Given the description of an element on the screen output the (x, y) to click on. 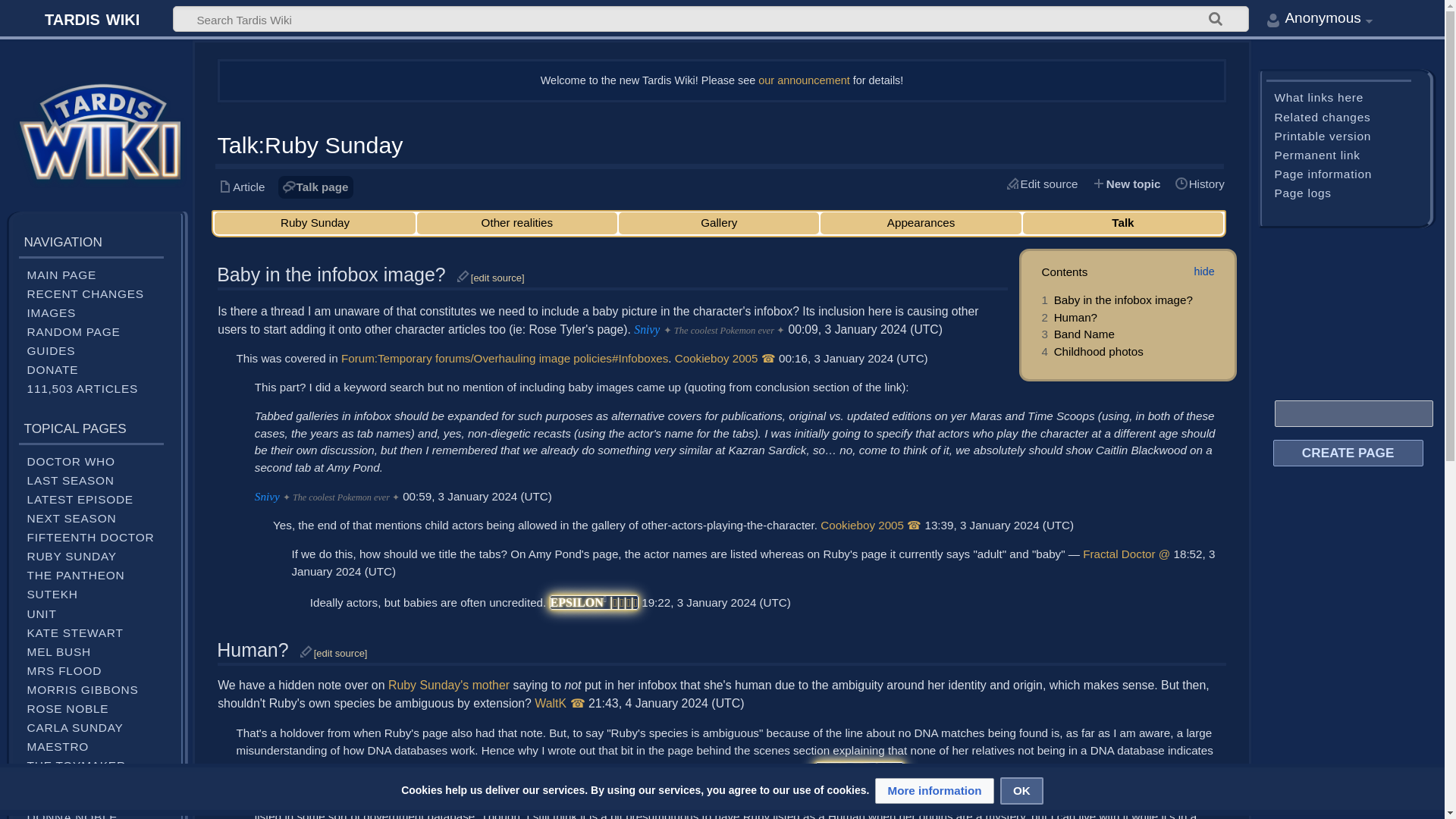
Edit source (1043, 184)
Search (1216, 21)
Snivy (266, 495)
Gallery (718, 222)
Search (1216, 21)
Cookieboy 2005 (716, 358)
Go (1216, 21)
Cookieboy 2005 (862, 524)
Dig into the depths of the data core! (1216, 21)
EPSILON (577, 602)
